Given the description of an element on the screen output the (x, y) to click on. 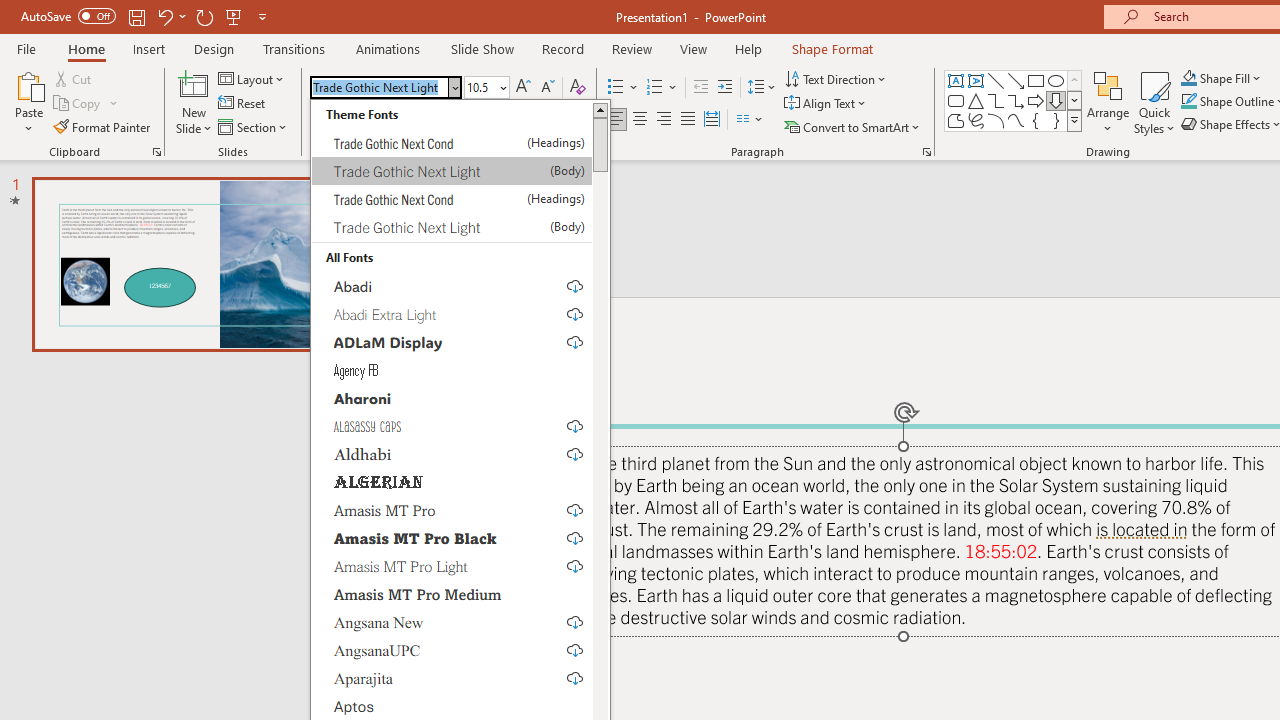
Help (748, 48)
Reset (243, 103)
Align Right (663, 119)
Quick Styles (1154, 102)
Quick Access Toolbar (145, 16)
Paste (28, 102)
Arrow: Right (1035, 100)
Aptos (451, 705)
Abadi, select to download (451, 286)
Redo (204, 15)
Rectangle: Rounded Corners (955, 100)
Connector: Elbow Arrow (1016, 100)
Angsana New, select to download (451, 621)
Amasis MT Pro Medium (451, 593)
Shape Outline Teal, Accent 1 (1188, 101)
